Given the description of an element on the screen output the (x, y) to click on. 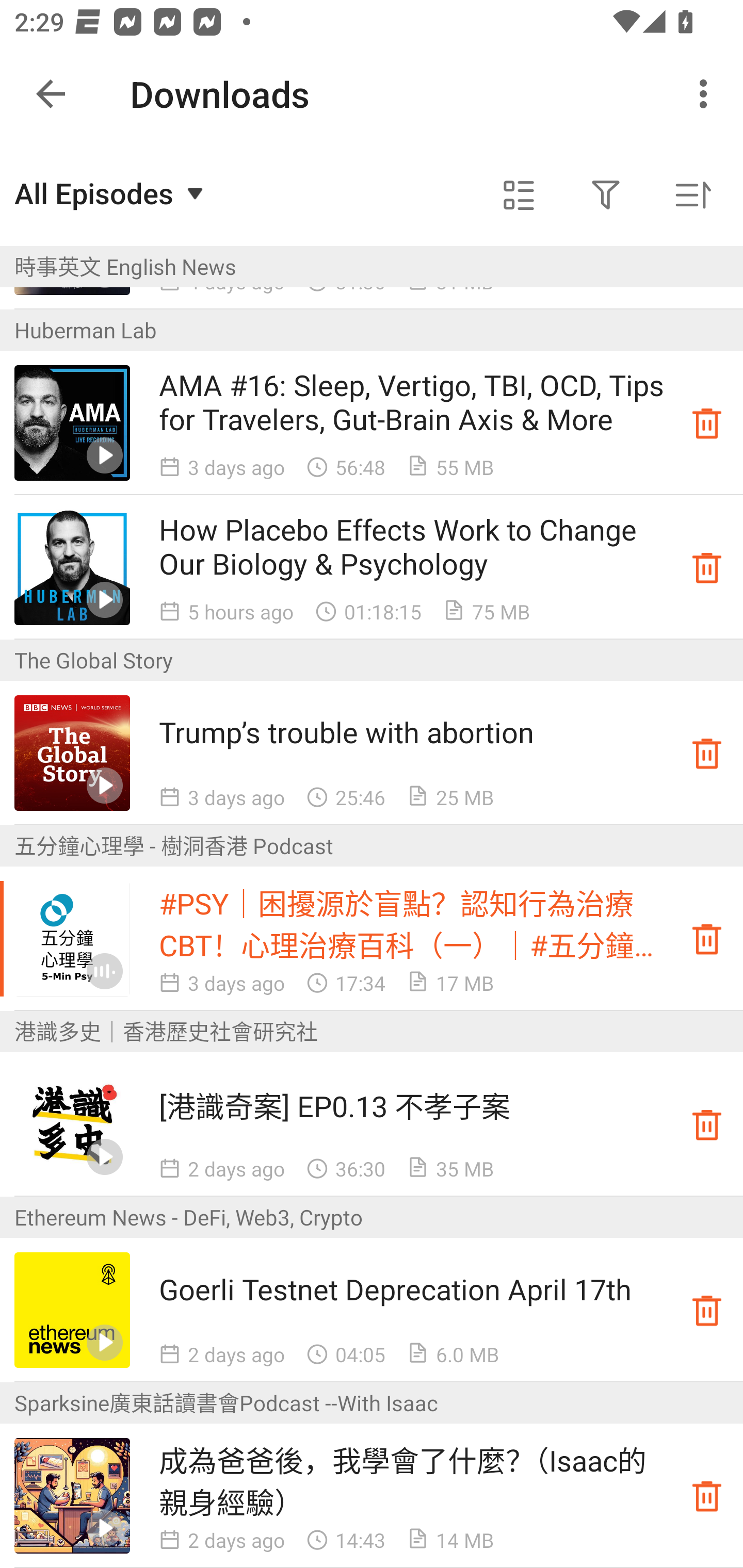
Navigate up (50, 93)
More options (706, 93)
All Episodes (111, 192)
 (518, 195)
 (605, 195)
 Sorted by oldest first (692, 195)
Downloaded (706, 423)
Downloaded (706, 567)
Downloaded (706, 752)
Downloaded (706, 938)
Downloaded (706, 1124)
Downloaded (706, 1309)
Downloaded (706, 1495)
